Given the description of an element on the screen output the (x, y) to click on. 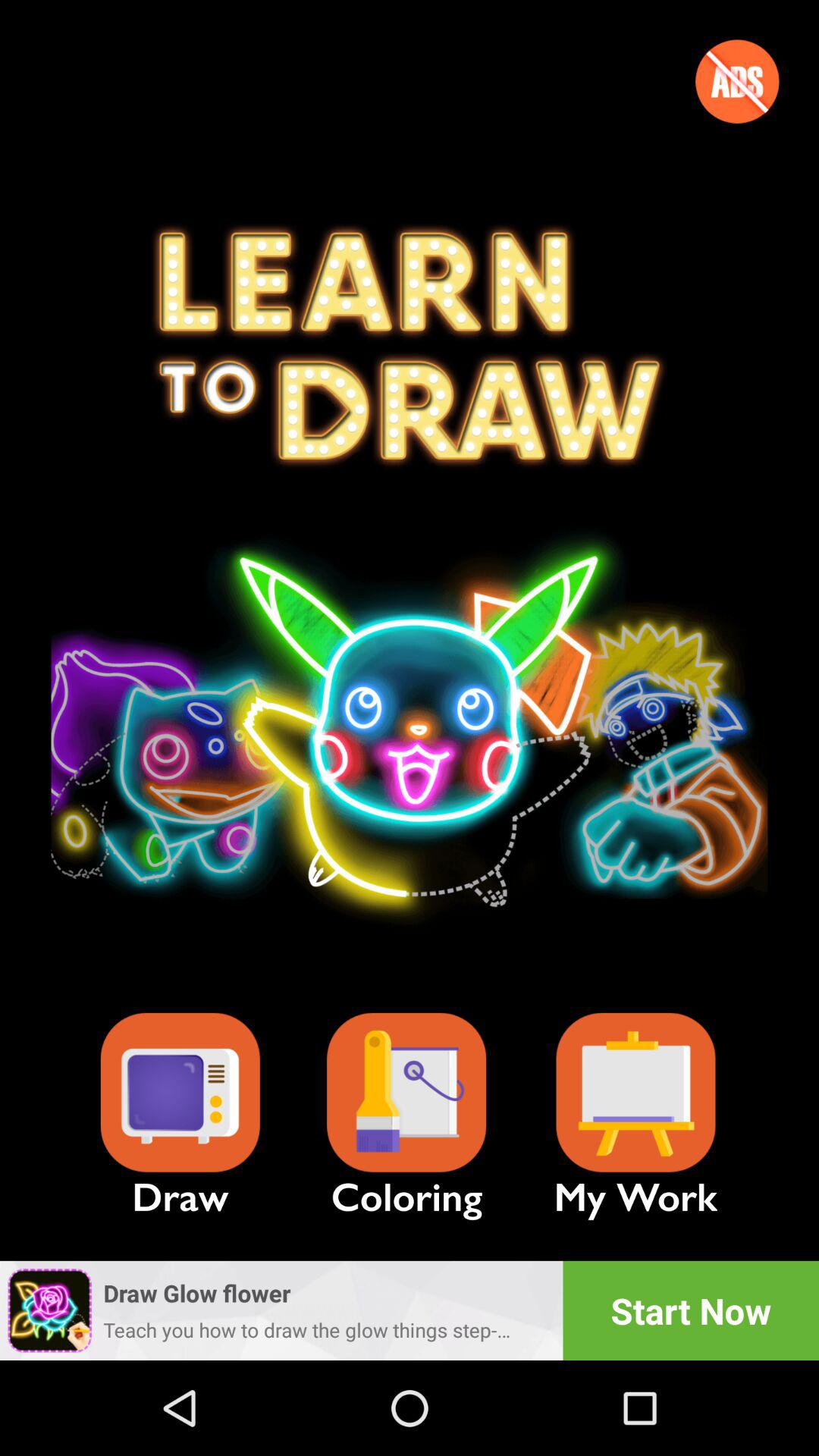
coloring (406, 1092)
